Given the description of an element on the screen output the (x, y) to click on. 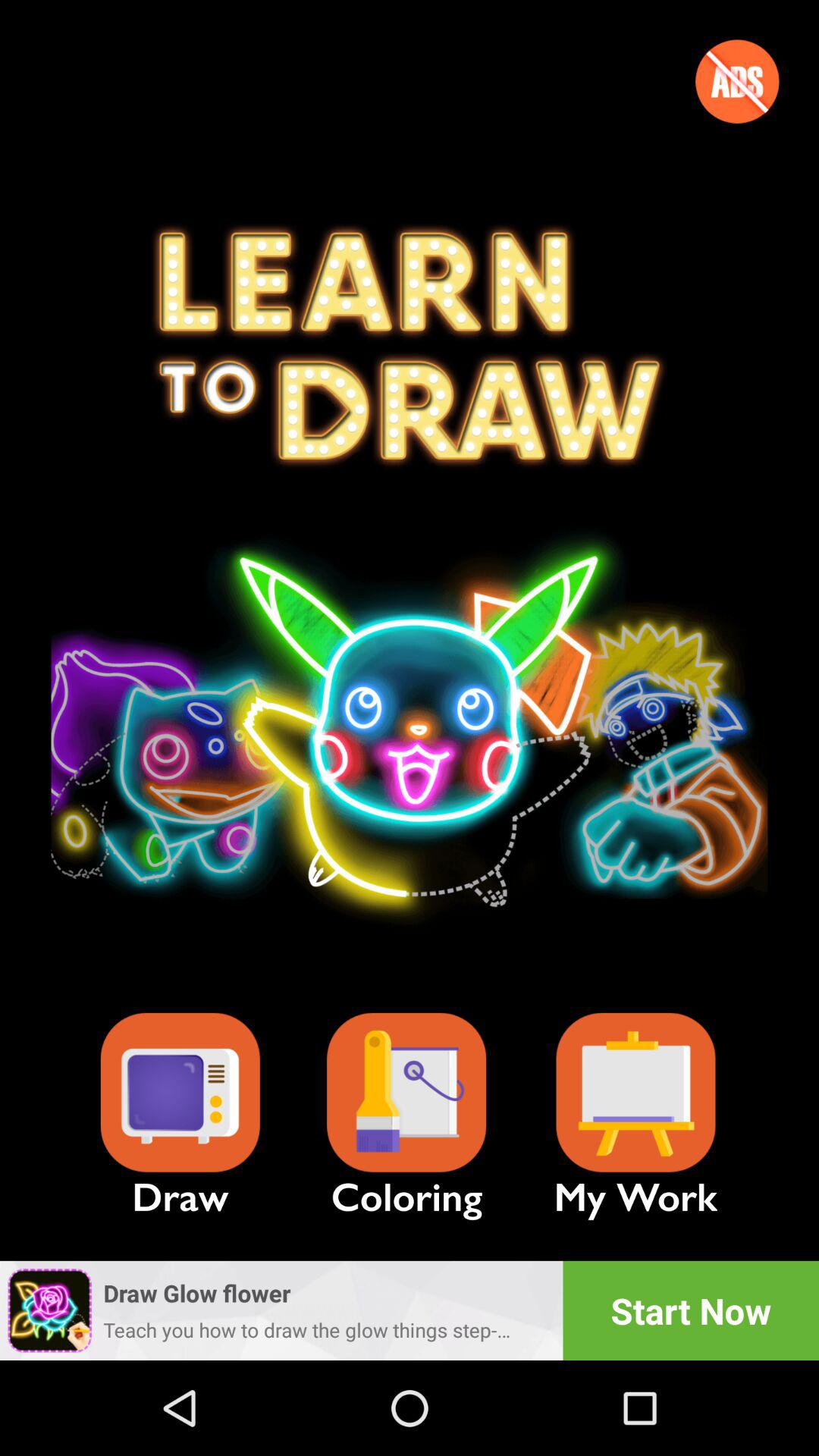
coloring (406, 1092)
